Given the description of an element on the screen output the (x, y) to click on. 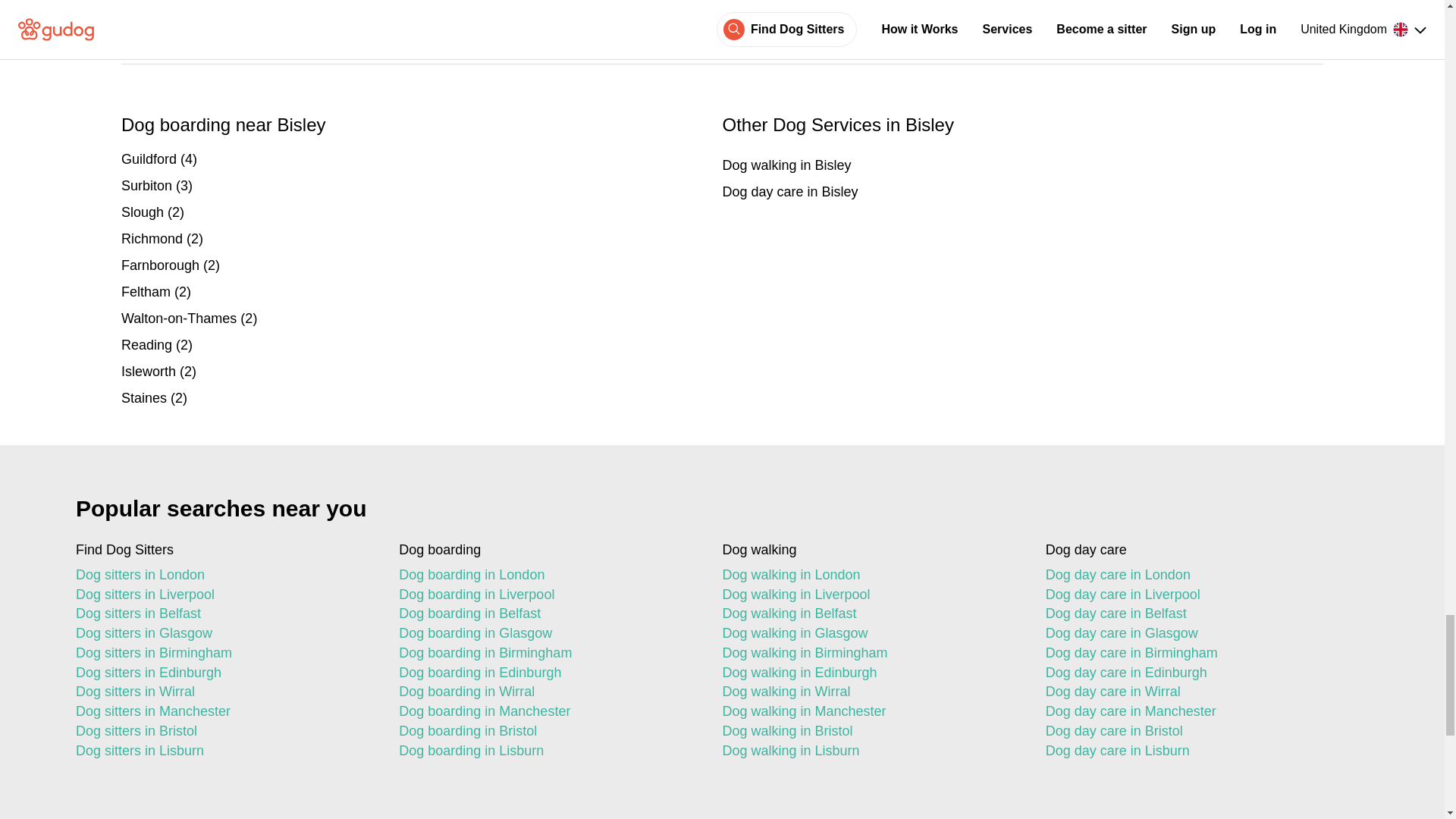
Dog boarding in Walton-on-Thames (421, 318)
Dog boarding in Guildford (421, 159)
Dog sitters in Glasgow (224, 633)
Dog sitters in Liverpool (224, 595)
Dog boarding in Staines (421, 398)
Dog walking in Bisley (1022, 165)
Dog boarding in Isleworth (421, 371)
Dog sitters in Lisburn (224, 751)
Dog sitters in Liverpool (224, 595)
Dog sitters in Bristol (224, 731)
